Given the description of an element on the screen output the (x, y) to click on. 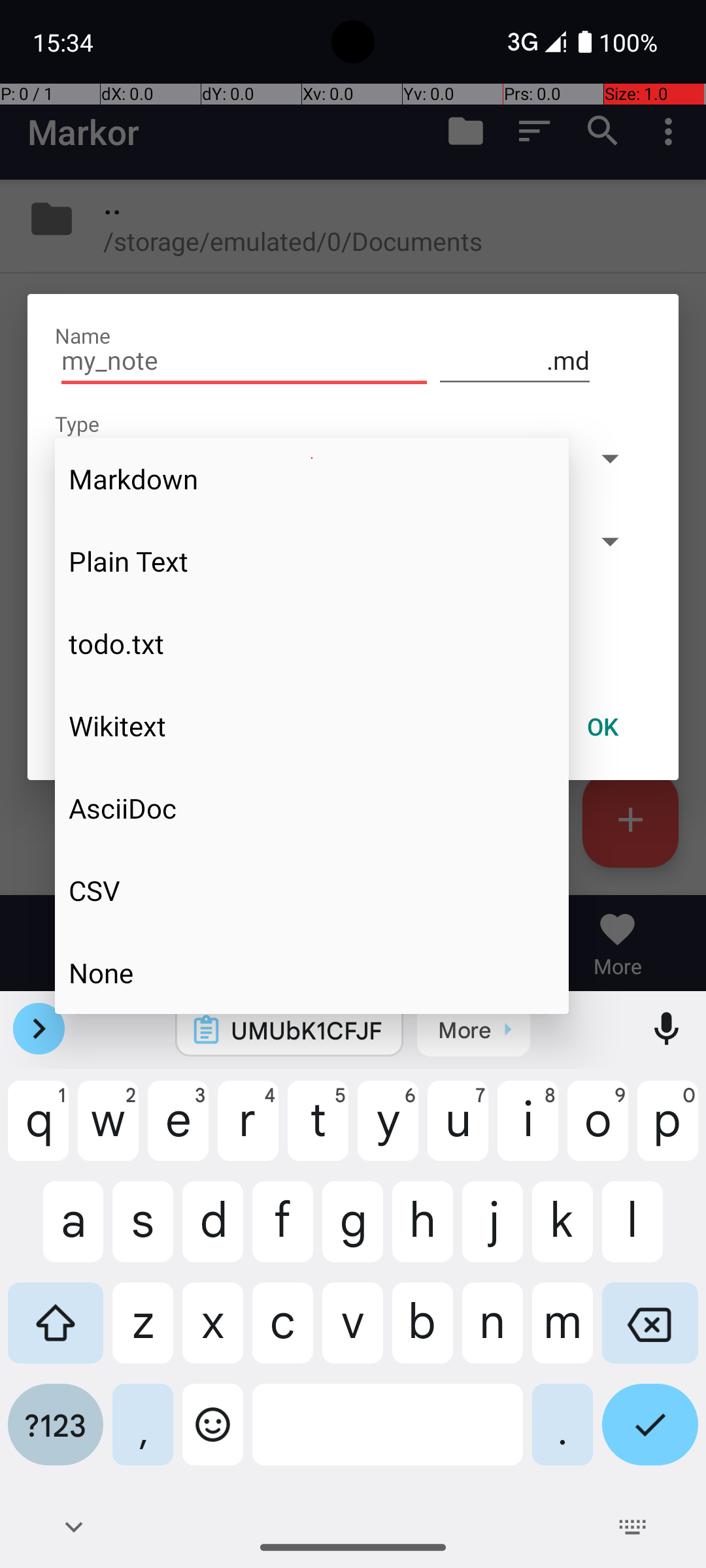
Plain Text Element type: android.widget.TextView (311, 561)
todo.txt Element type: android.widget.TextView (311, 643)
Wikitext Element type: android.widget.TextView (311, 725)
AsciiDoc Element type: android.widget.TextView (311, 808)
CSV Element type: android.widget.TextView (311, 890)
None Element type: android.widget.TextView (311, 972)
